Given the description of an element on the screen output the (x, y) to click on. 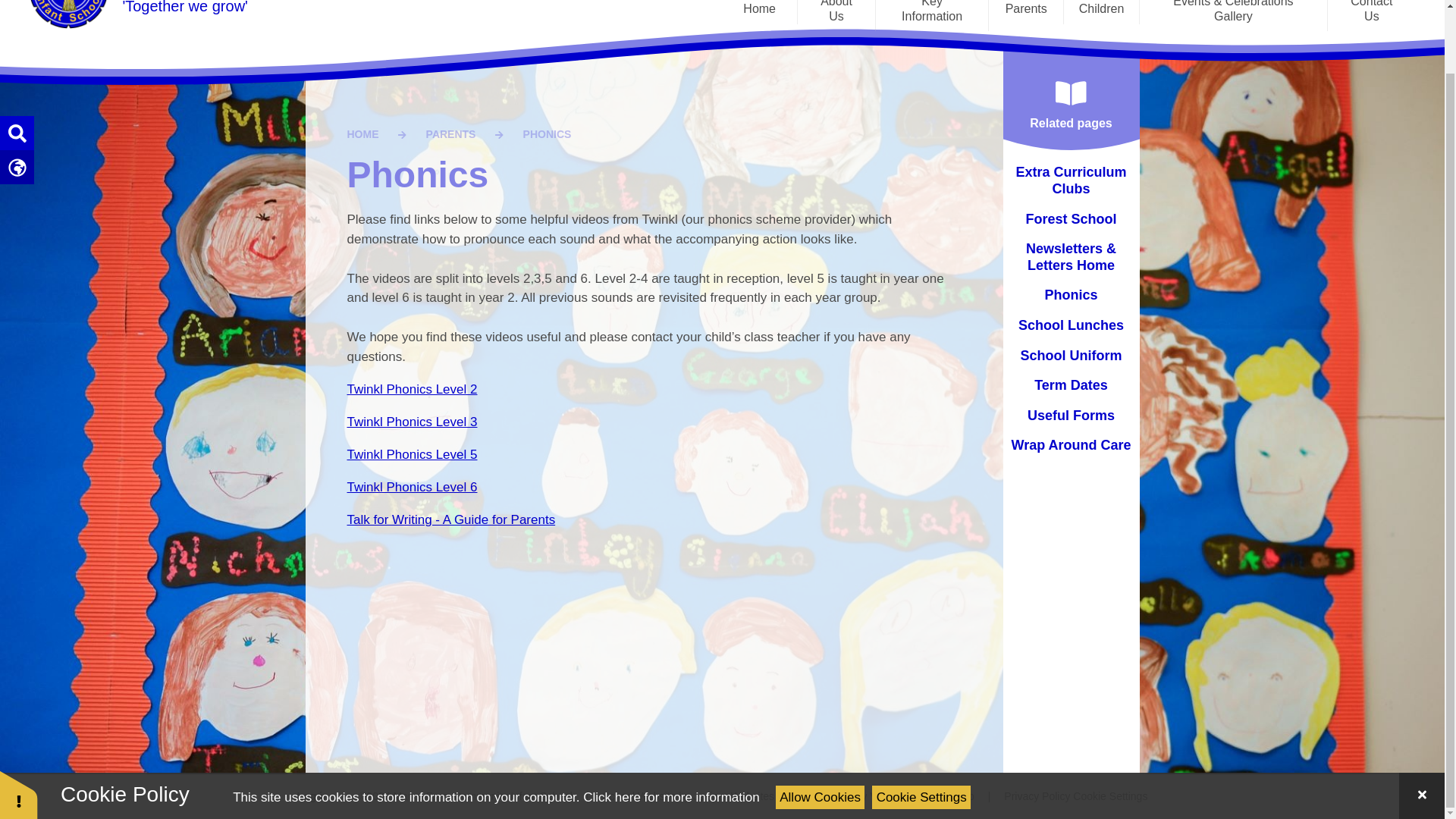
About Us (836, 15)
Key Information (932, 15)
Policies (897, 290)
Pastoral Care (897, 198)
Search (13, 150)
Allow Cookies (820, 727)
Home (759, 12)
Diary of Events (705, 39)
Cookie Settings (1110, 796)
Curriculum (897, 107)
Financial Benchmarking (897, 137)
Cookie Settings (921, 727)
Term Dates (705, 69)
Performance Measures (897, 259)
See cookie policy (670, 727)
